Given the description of an element on the screen output the (x, y) to click on. 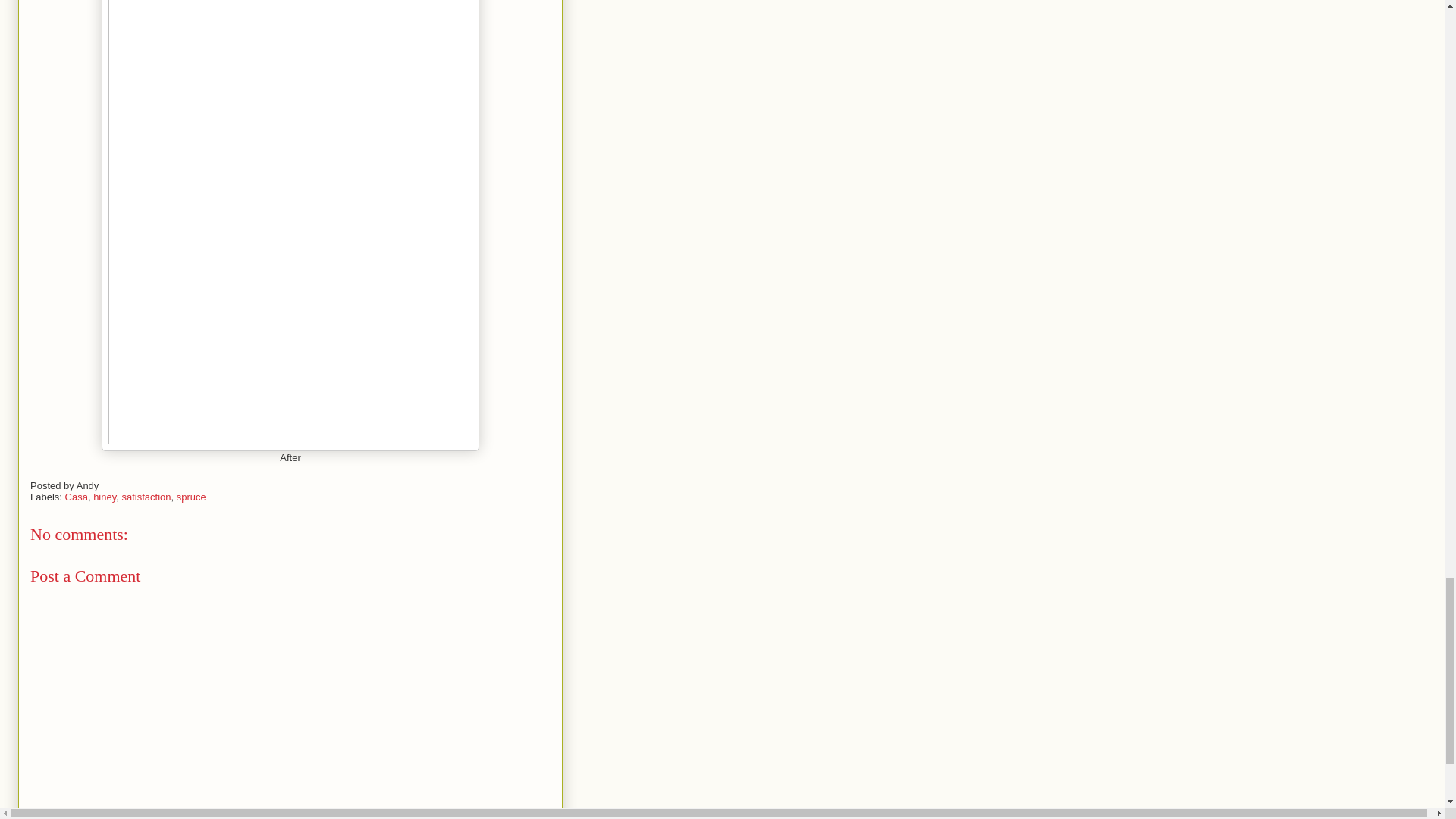
hiney (104, 496)
spruce (191, 496)
satisfaction (145, 496)
Casa (76, 496)
